Given the description of an element on the screen output the (x, y) to click on. 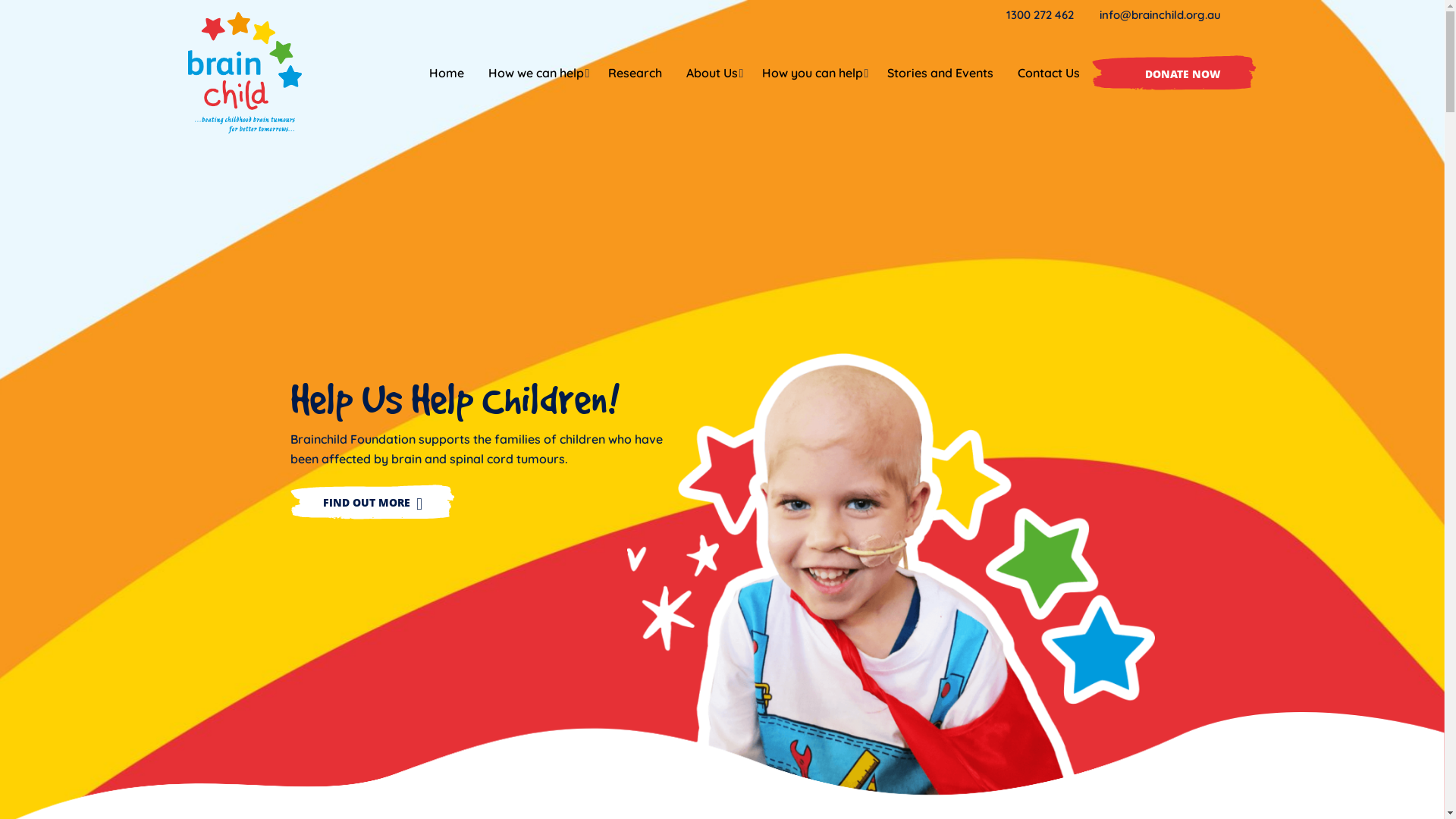
Stories and Events Element type: text (940, 72)
Contact Us Element type: text (1048, 72)
How you can help Element type: text (811, 72)
FIND OUT MORE Element type: text (372, 501)
Submit Element type: text (82, 17)
Research Element type: text (635, 72)
Home Element type: text (446, 72)
About Us Element type: text (711, 72)
DONATE NOW Element type: text (1173, 72)
How we can help Element type: text (536, 72)
